Given the description of an element on the screen output the (x, y) to click on. 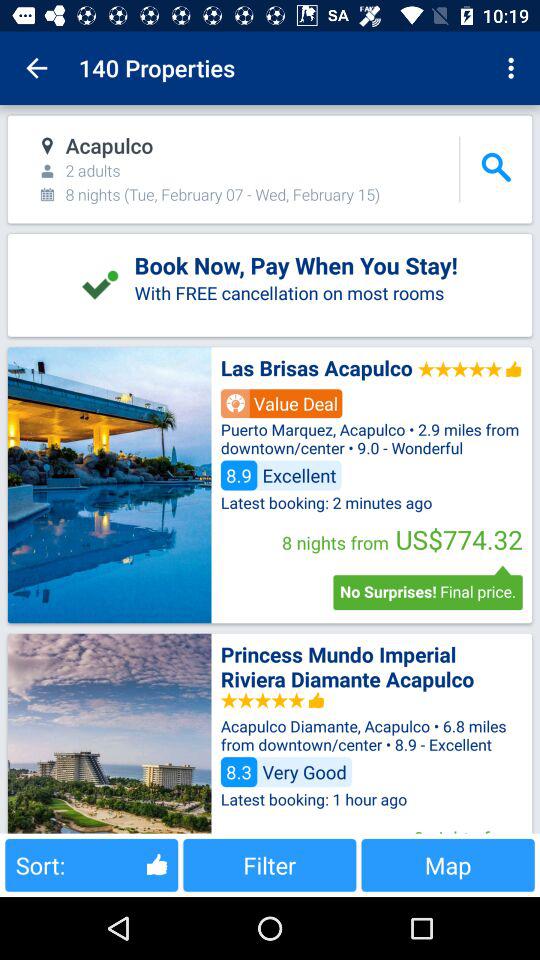
enlarge picture (109, 733)
